Given the description of an element on the screen output the (x, y) to click on. 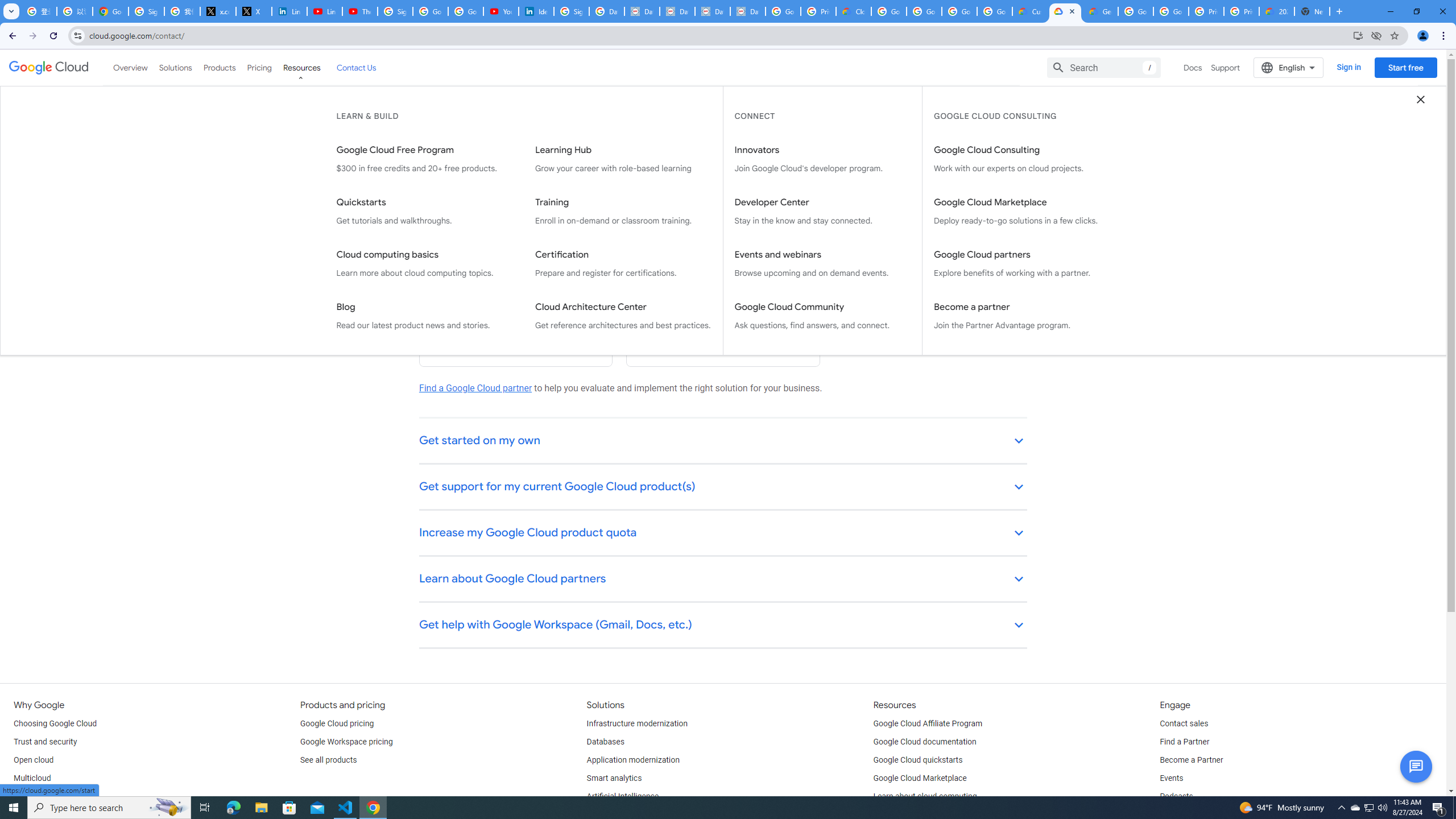
Trust and security (45, 742)
Search (1103, 67)
Docs (1192, 67)
Events and webinars Browse upcoming and on demand events. (821, 264)
New Tab (1312, 11)
Get started on my own keyboard_arrow_down (723, 441)
Solutions (175, 67)
Training Enroll in on-demand or classroom training. (623, 211)
Google Workspace - Specific Terms (994, 11)
Chrome (1445, 35)
Find a Google Cloud partner (475, 387)
Customer Care | Google Cloud (1029, 11)
Google Cloud Affiliate Program (927, 723)
